Given the description of an element on the screen output the (x, y) to click on. 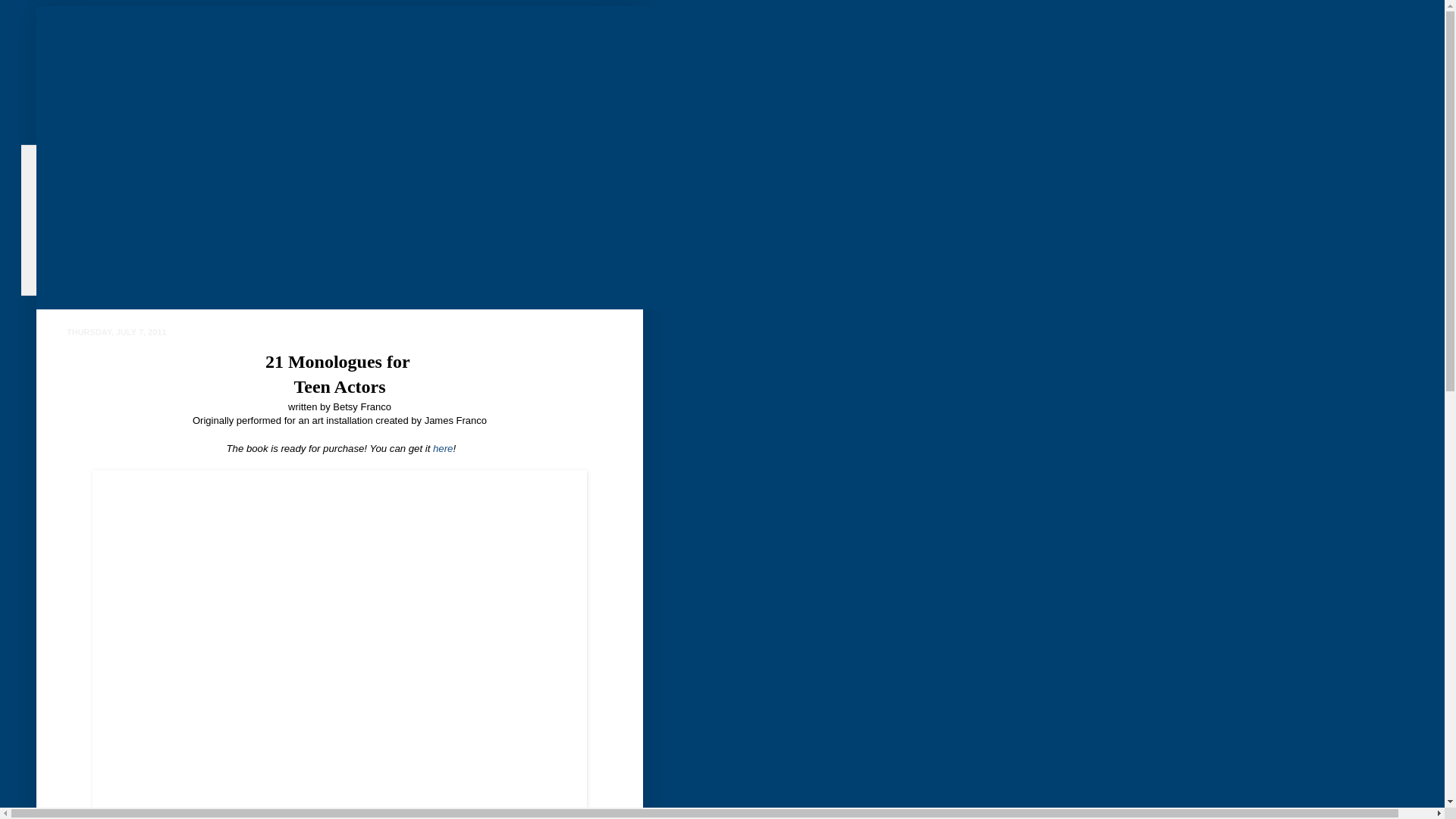
Buy the Book! Element type: text (87, 262)
here Element type: text (442, 448)
Author & Illustrator Element type: text (99, 220)
Audition Tips Element type: text (87, 241)
Photos Element type: text (73, 283)
Home Element type: text (72, 155)
About the Monologues Element type: text (104, 177)
Sneak Preview Element type: text (89, 198)
